Given the description of an element on the screen output the (x, y) to click on. 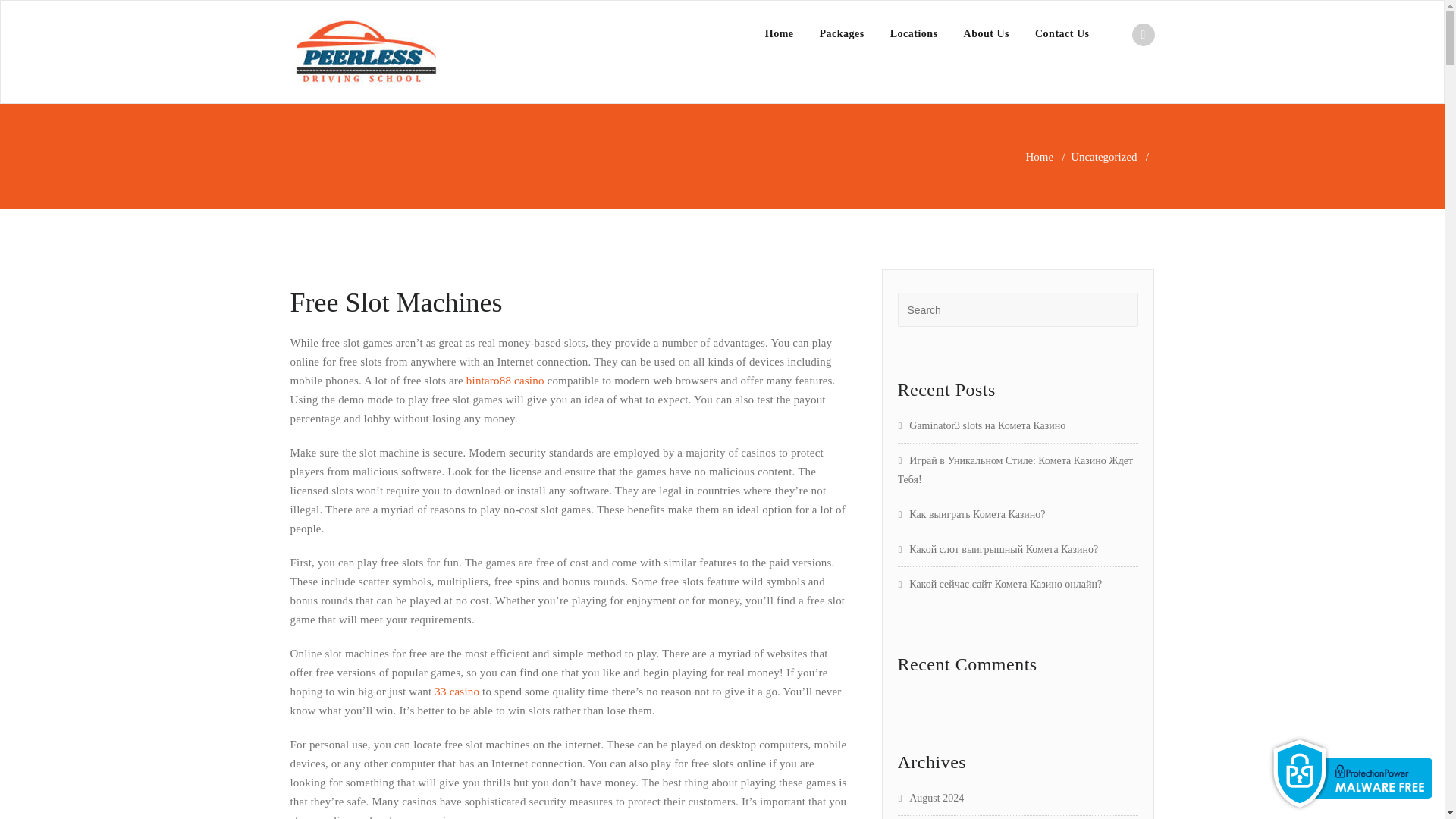
Home (1040, 156)
Home (779, 33)
33 casino (456, 691)
About Us (986, 33)
Contact Us (1062, 33)
August 2024 (930, 797)
bintaro88 casino (504, 380)
Uncategorized (1103, 156)
Packages (841, 33)
Locations (913, 33)
